Given the description of an element on the screen output the (x, y) to click on. 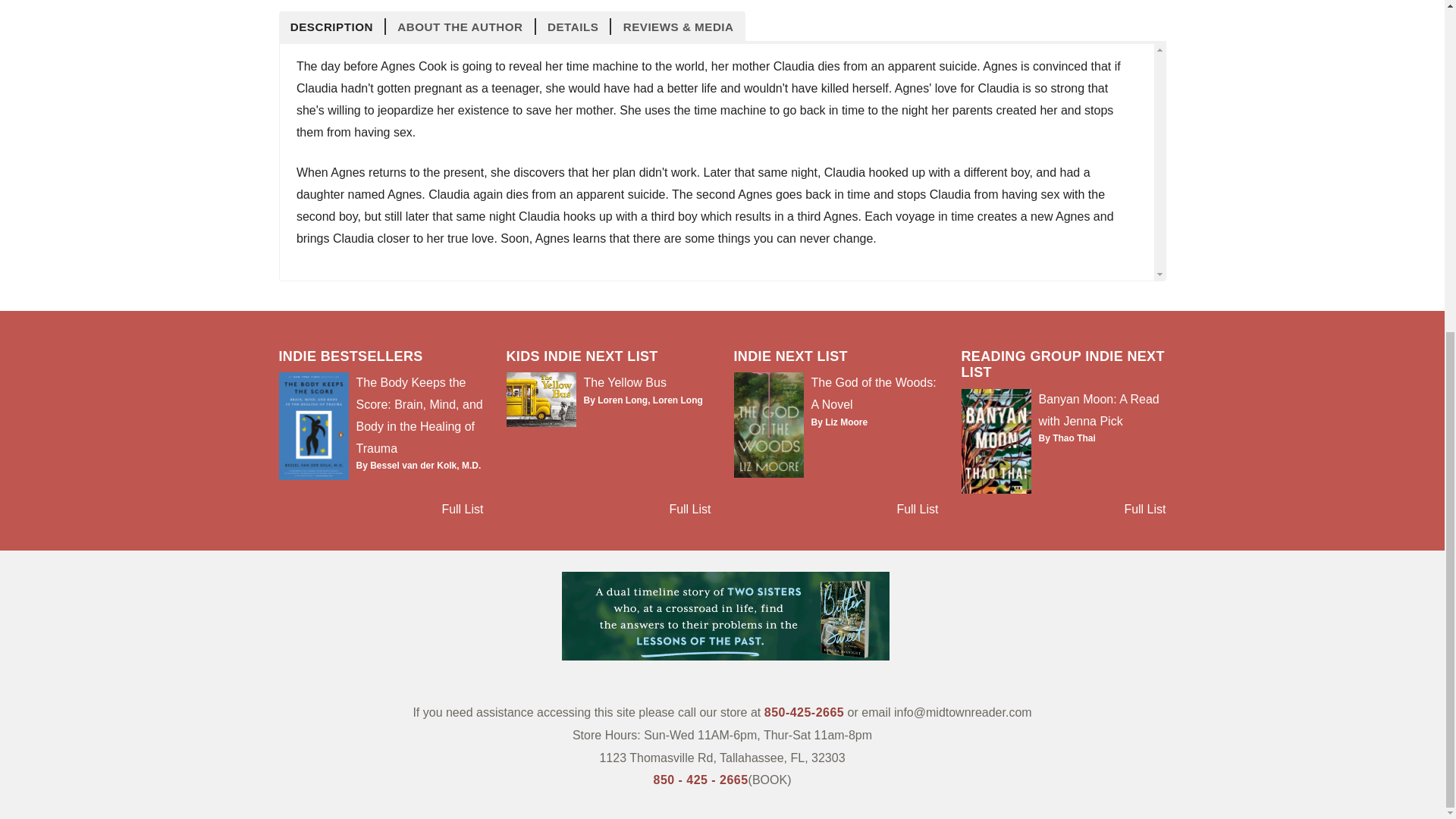
ABOUT THE AUTHOR (460, 26)
DETAILS (573, 26)
DESCRIPTION (333, 26)
